Given the description of an element on the screen output the (x, y) to click on. 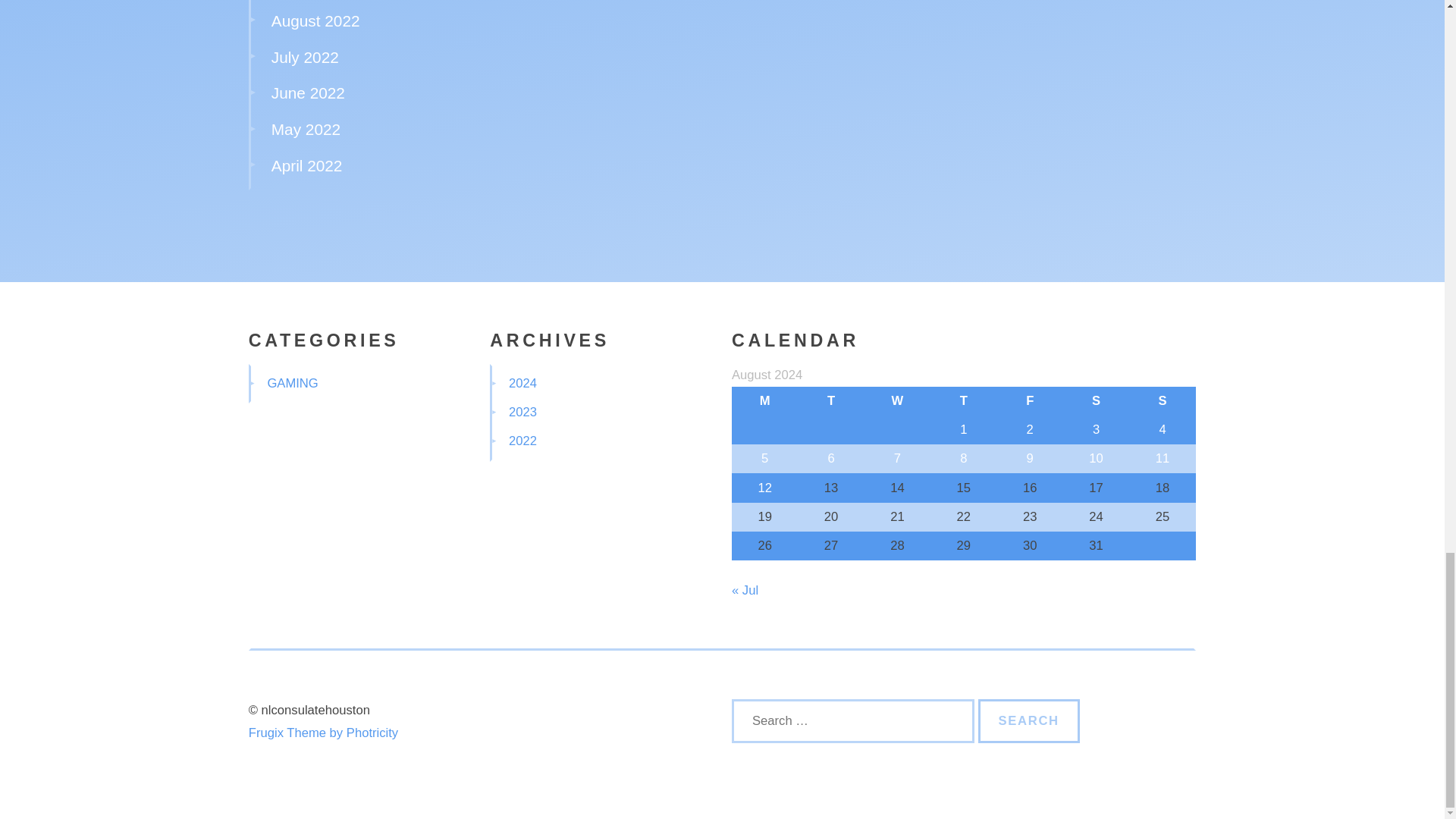
July 2022 (304, 57)
Friday (1029, 400)
Monday (764, 400)
Sunday (1162, 400)
April 2022 (306, 165)
Saturday (1095, 400)
August 2022 (314, 20)
June 2022 (307, 92)
Thursday (962, 400)
Tuesday (830, 400)
